Given the description of an element on the screen output the (x, y) to click on. 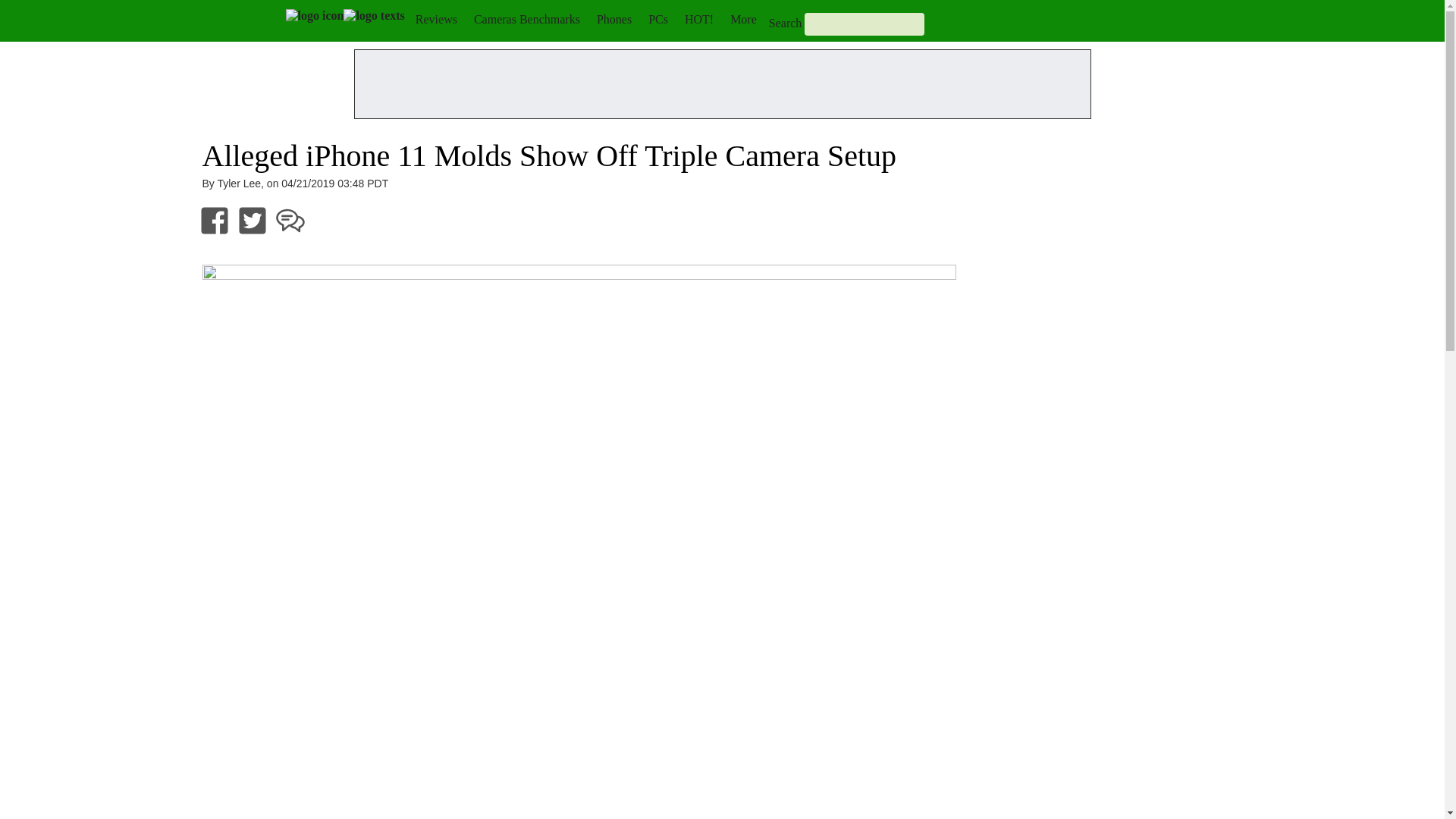
Reviews (435, 19)
Phones (613, 19)
PCs (657, 19)
Cameras Benchmarks (526, 19)
